Given the description of an element on the screen output the (x, y) to click on. 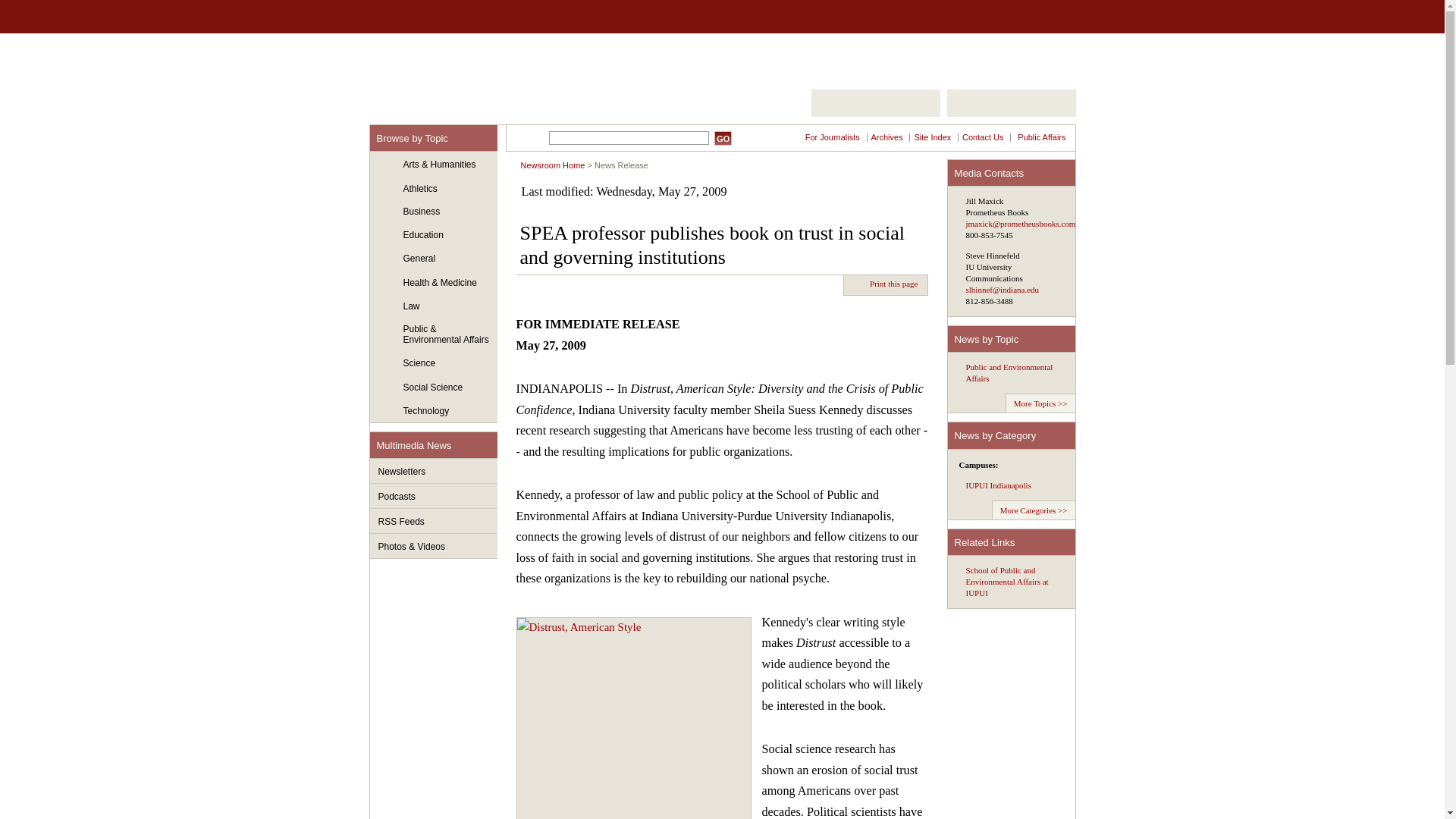
Podcasts (433, 496)
General (433, 259)
Athletics (433, 188)
Social Science (433, 387)
Athletics (433, 188)
Newsletters (433, 471)
Indiana University (448, 16)
General (433, 259)
IU News Room (455, 69)
RSS Feeds (433, 520)
Science (433, 363)
Technology (433, 411)
Business (433, 211)
IU News Room (455, 69)
Law (433, 306)
